Given the description of an element on the screen output the (x, y) to click on. 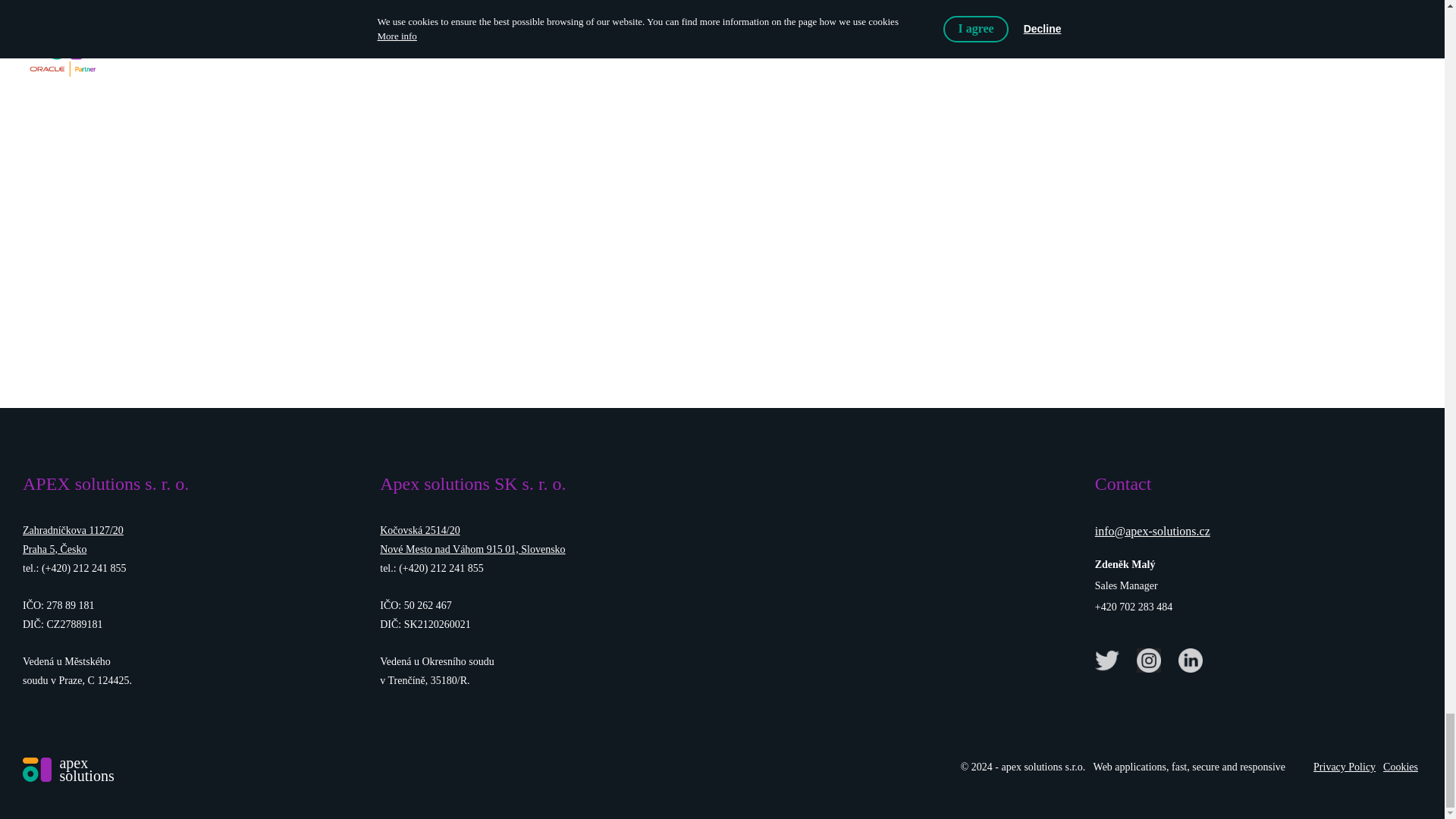
Send (721, 231)
LinkedIn (1192, 659)
Instagram (1151, 659)
apexsolutions (69, 769)
Twitter (1109, 659)
